Given the description of an element on the screen output the (x, y) to click on. 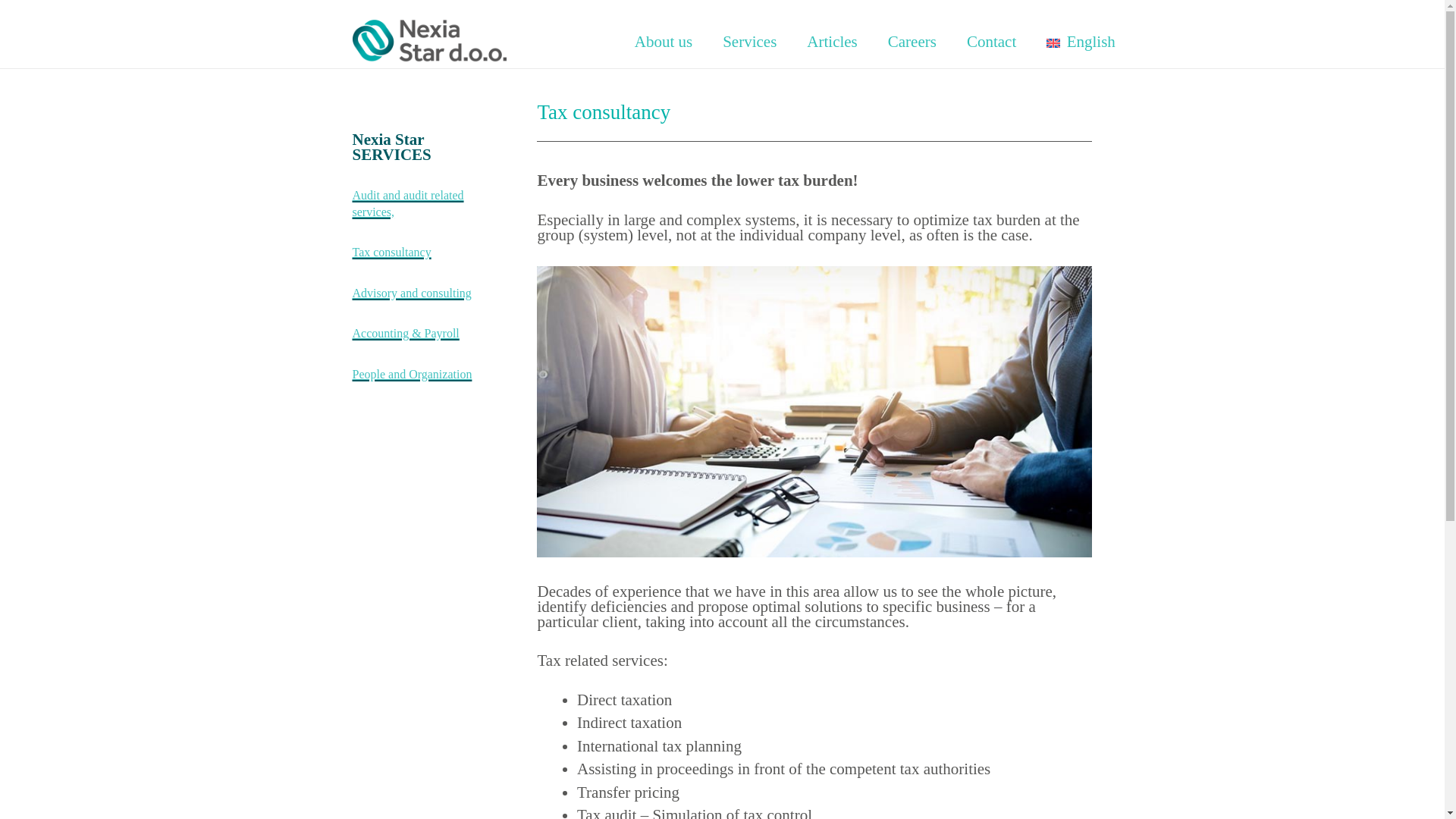
English (1080, 41)
Articles (832, 41)
People and Organization (411, 372)
Advisory and consulting (411, 290)
Careers (912, 41)
Audit and audit related services, (407, 202)
Services (749, 41)
Nexia Star SERVICES (391, 146)
About us (663, 41)
Contact (991, 41)
Tax consultancy (391, 250)
English (1080, 41)
